Given the description of an element on the screen output the (x, y) to click on. 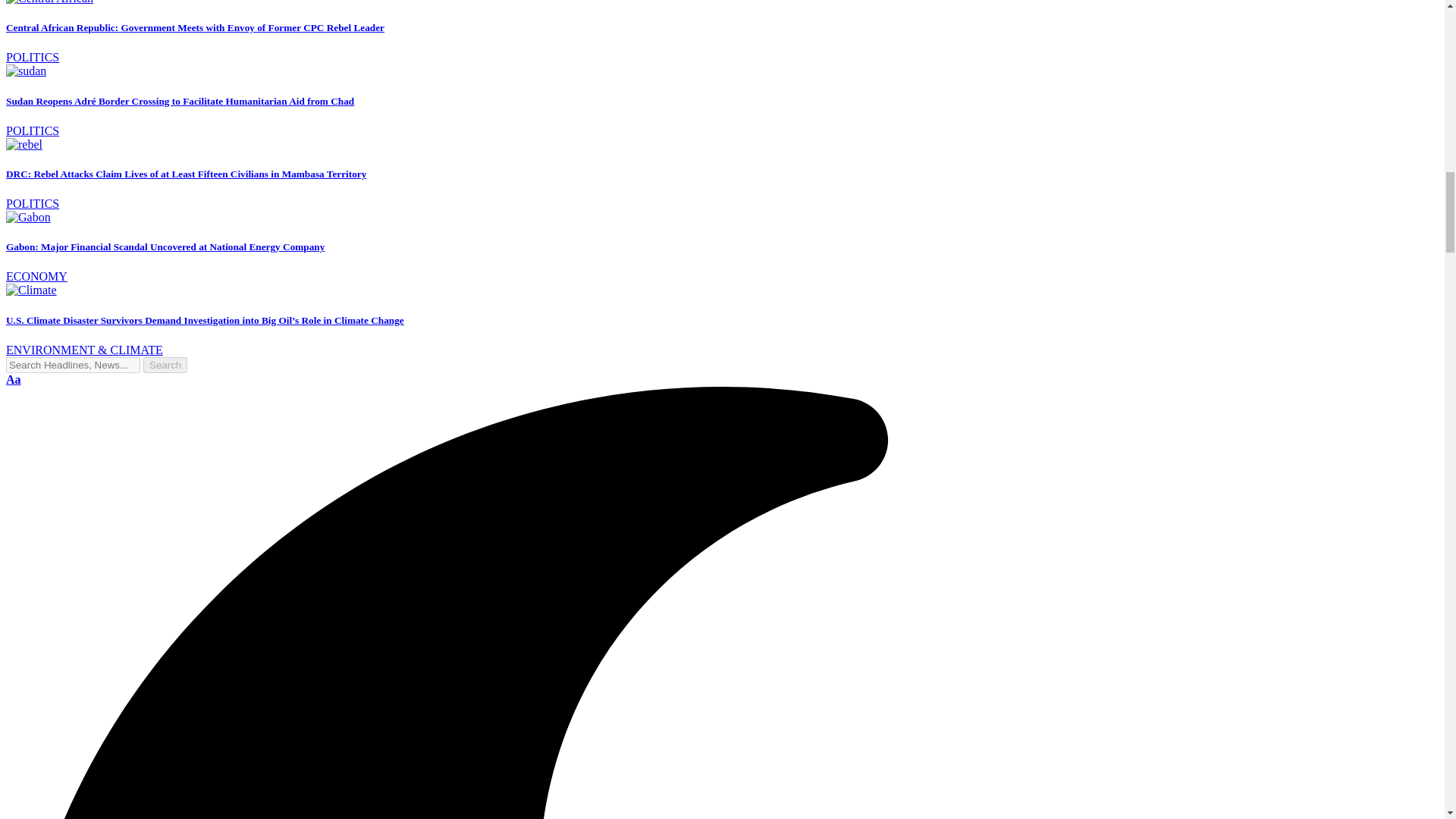
POLITICS (32, 130)
POLITICS (32, 203)
POLITICS (32, 56)
Search (164, 365)
Search (164, 365)
Aa (13, 379)
